Given the description of an element on the screen output the (x, y) to click on. 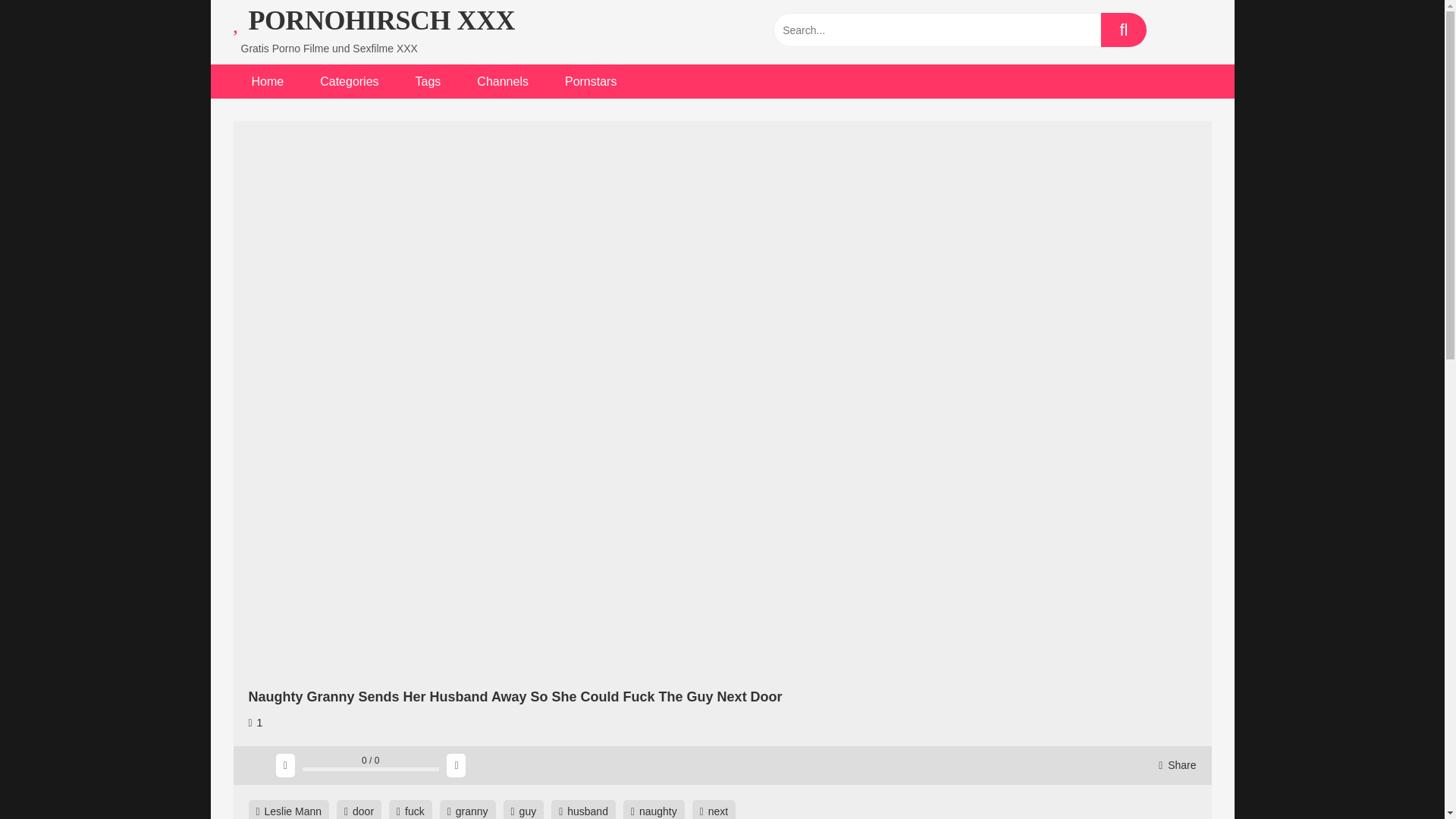
next (714, 809)
husband (583, 809)
Pornstars (590, 81)
fuck (410, 809)
Home (267, 81)
guy (523, 809)
Tags (428, 81)
husband (583, 809)
guy (523, 809)
fuck (410, 809)
Leslie Mann (289, 809)
door (358, 809)
Leslie Mann (289, 809)
Categories (348, 81)
Search... (936, 29)
